Given the description of an element on the screen output the (x, y) to click on. 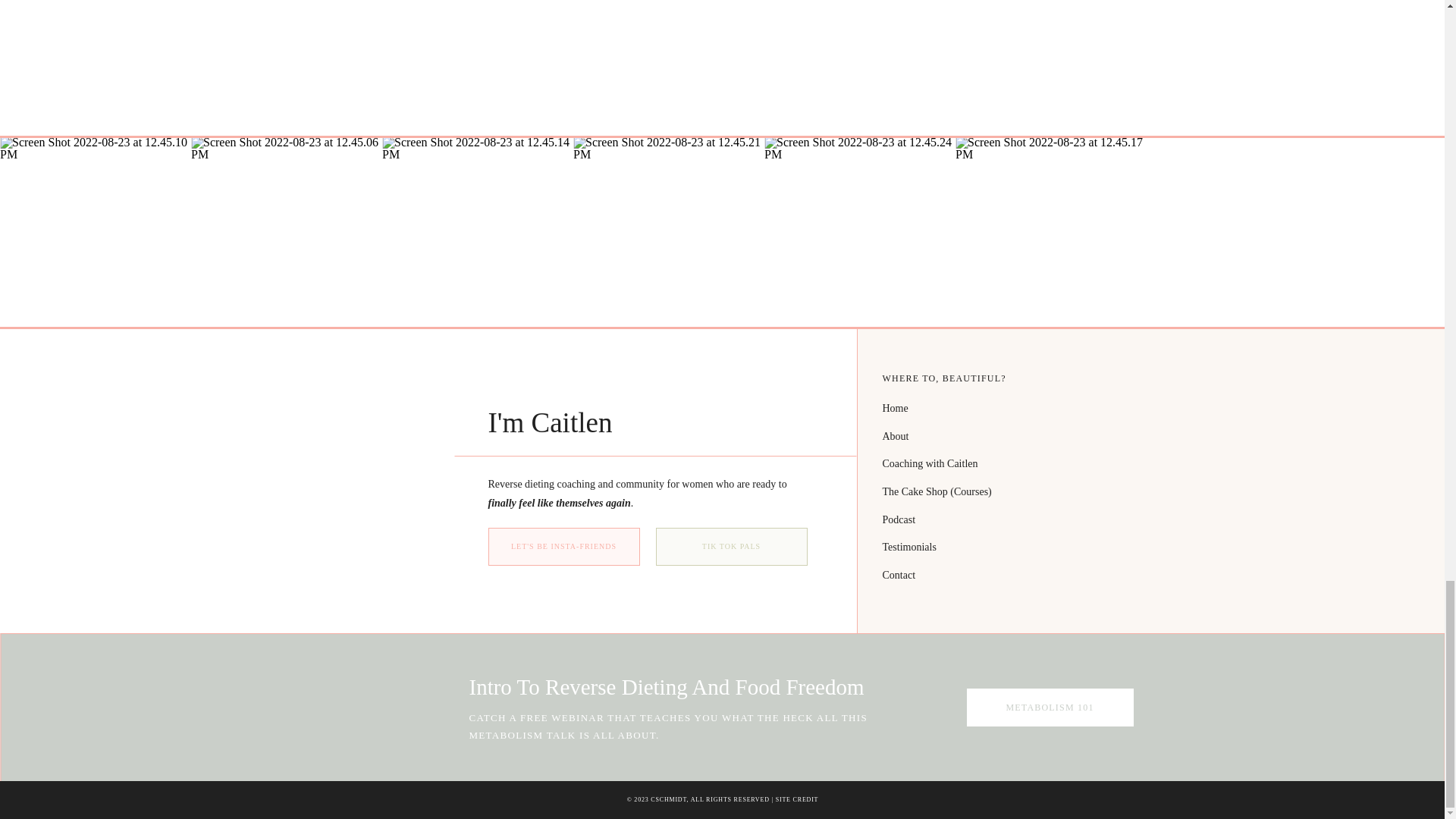
LET'S BE INSTA-FRIENDS (563, 546)
Screen Shot 2022-08-23 at 12.45.21 PM (668, 231)
Screen Shot 2022-08-23 at 12.45.24 PM (859, 231)
METABOLISM 101 (1049, 707)
Testimonials (1009, 544)
TIK TOK PALS (730, 546)
Contact (1009, 572)
Screen Shot 2022-08-23 at 12.45.14 PM (477, 231)
Screen Shot 2022-08-23 at 12.45.06 PM (285, 231)
Screen Shot 2022-08-23 at 12.45.17 PM (1051, 231)
WHERE TO, BEAUTIFUL? (1011, 377)
Screen Shot 2022-08-23 at 12.45.10 PM (95, 231)
Home (1009, 405)
Coaching with Caitlen (1009, 461)
About (1009, 433)
